Given the description of an element on the screen output the (x, y) to click on. 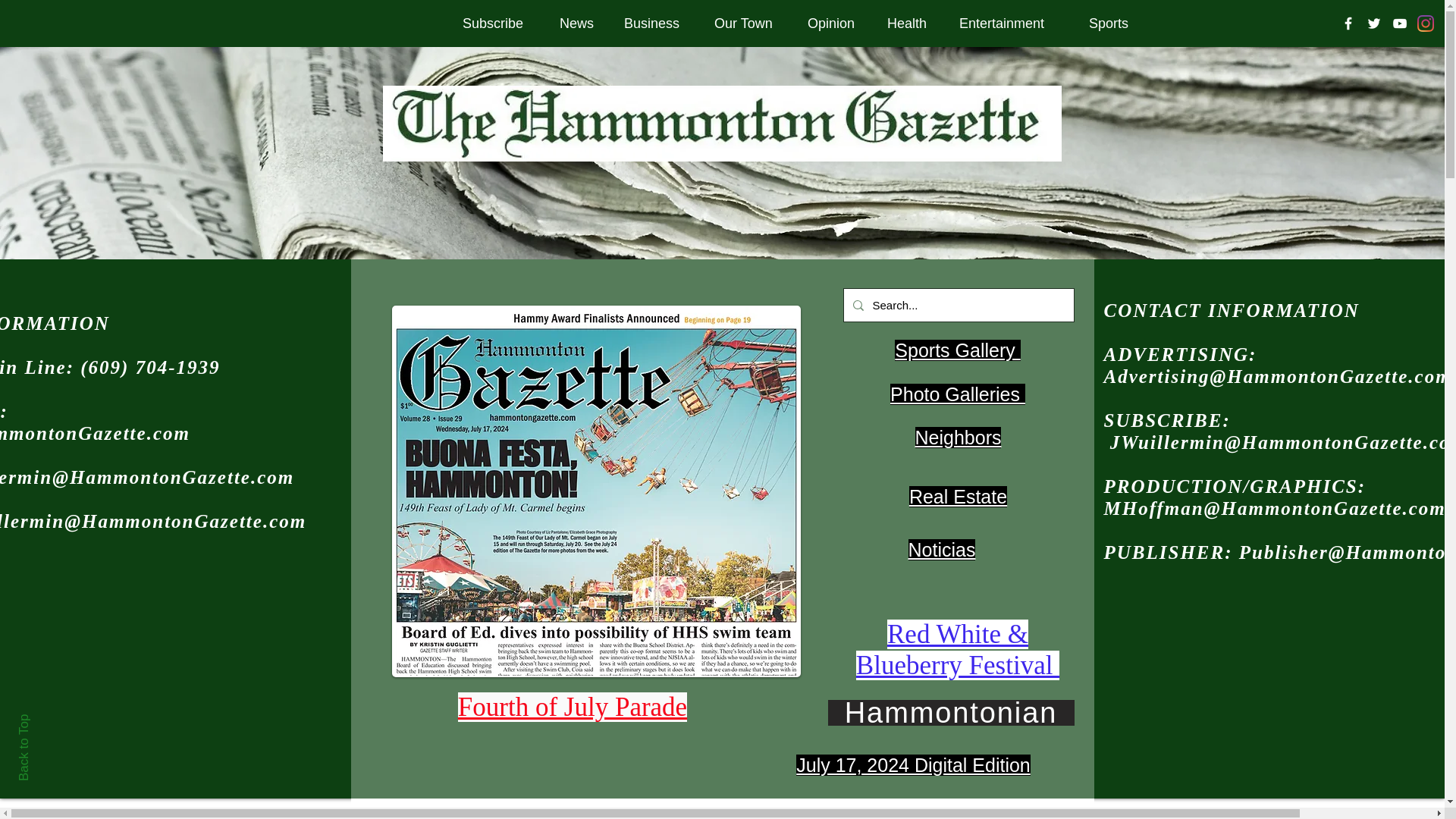
Entertainment (1012, 23)
Sports (1112, 23)
Health (911, 23)
Real Estate (1202, 23)
Advertise (1304, 23)
Business (657, 23)
News (580, 23)
Subscribe (499, 23)
Opinion (836, 23)
Our Town (749, 23)
